Given the description of an element on the screen output the (x, y) to click on. 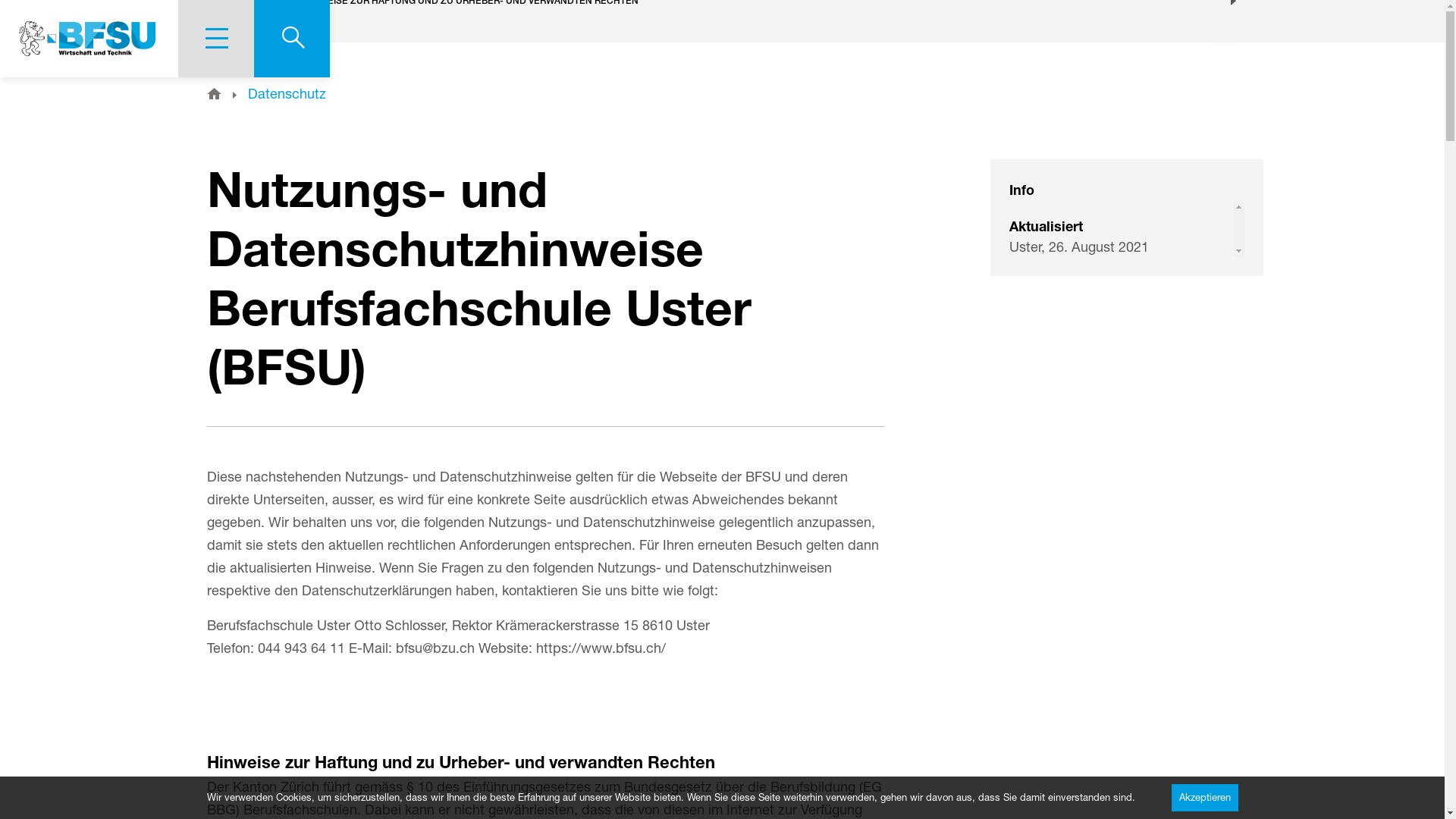
Akzeptieren Element type: text (1203, 797)
Berufsfachschule Uster Element type: hover (89, 38)
